Given the description of an element on the screen output the (x, y) to click on. 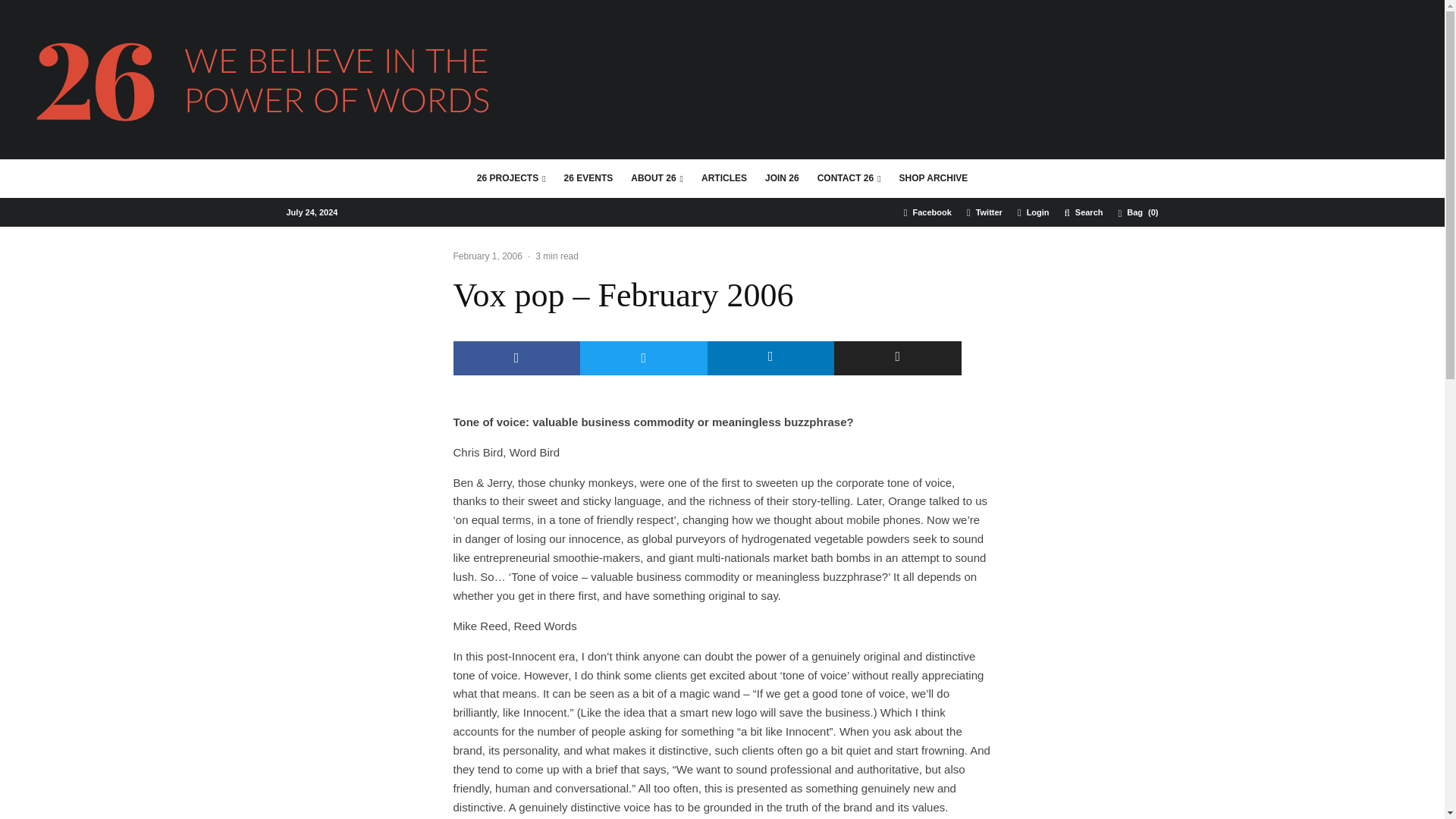
26 PROJECTS (510, 178)
